Given the description of an element on the screen output the (x, y) to click on. 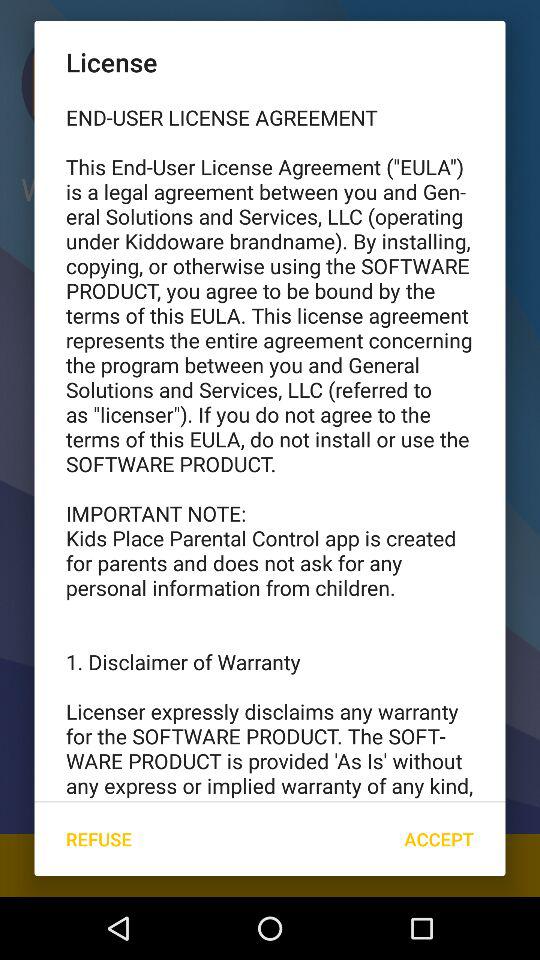
choose the accept (438, 838)
